Given the description of an element on the screen output the (x, y) to click on. 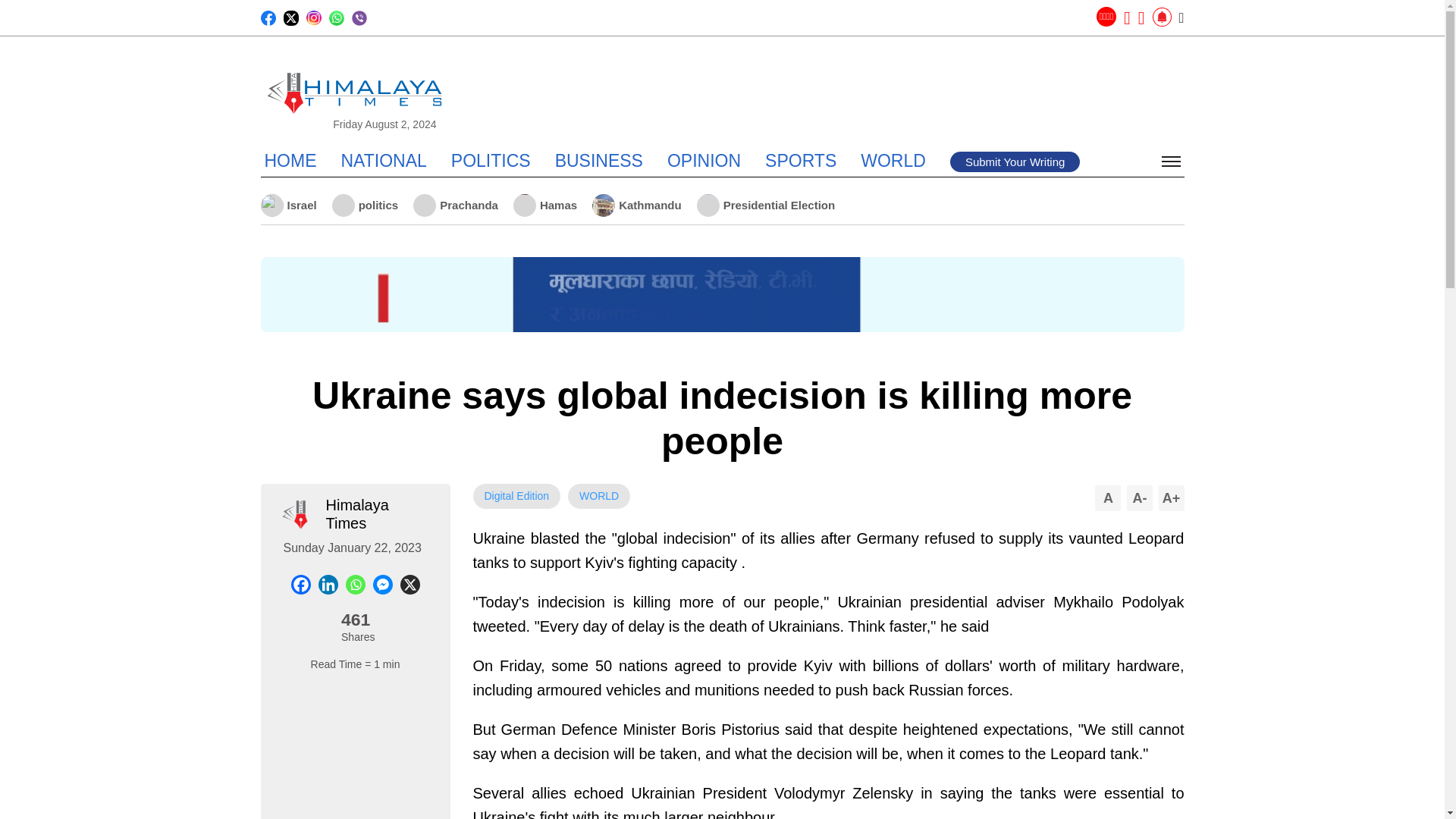
Total Shares (354, 623)
OPINION (703, 160)
Submit Your Writing (1015, 161)
WORLD (893, 160)
Whatsapp (355, 584)
Notifications (1162, 18)
Linkedin (327, 584)
BUSINESS (598, 160)
NATIONAL (383, 160)
Decrease (1139, 498)
Reset (1107, 498)
HOME (289, 160)
POLITICS (491, 160)
English (1106, 16)
SPORTS (800, 160)
